Given the description of an element on the screen output the (x, y) to click on. 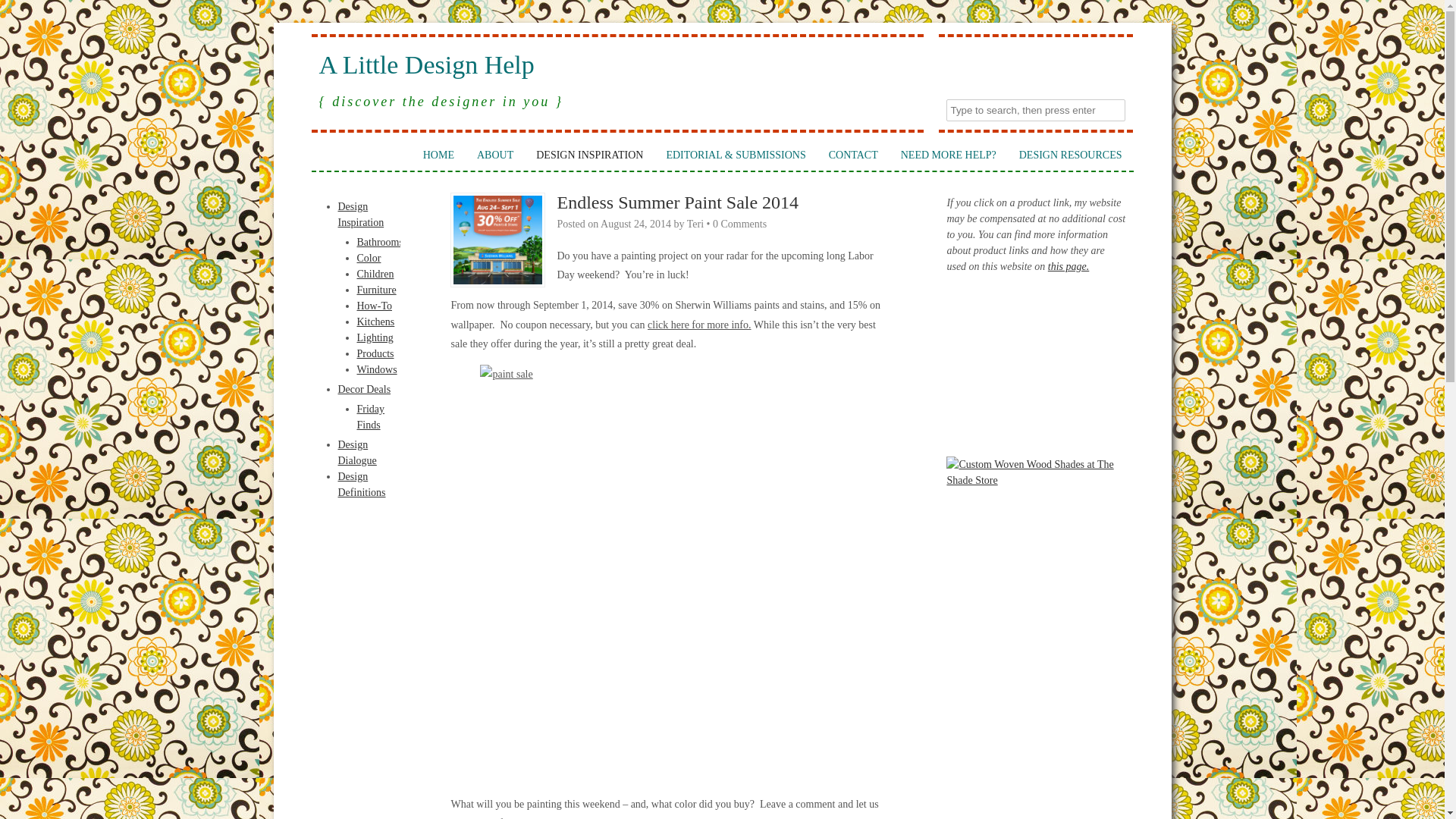
Color (368, 257)
DESIGN INSPIRATION (588, 155)
CONTACT (852, 155)
View all posts by Teri (695, 224)
Search (23, 10)
Teri (695, 224)
Type to search, then press enter (1035, 110)
A Little Design Help (616, 64)
NEED MORE HELP? (948, 155)
DESIGN RESOURCES (1070, 155)
HOME (438, 155)
Furniture (376, 289)
click here for more info. (699, 324)
2014-08-24T08:59:56-05:00 (635, 224)
Windows (376, 369)
